Given the description of an element on the screen output the (x, y) to click on. 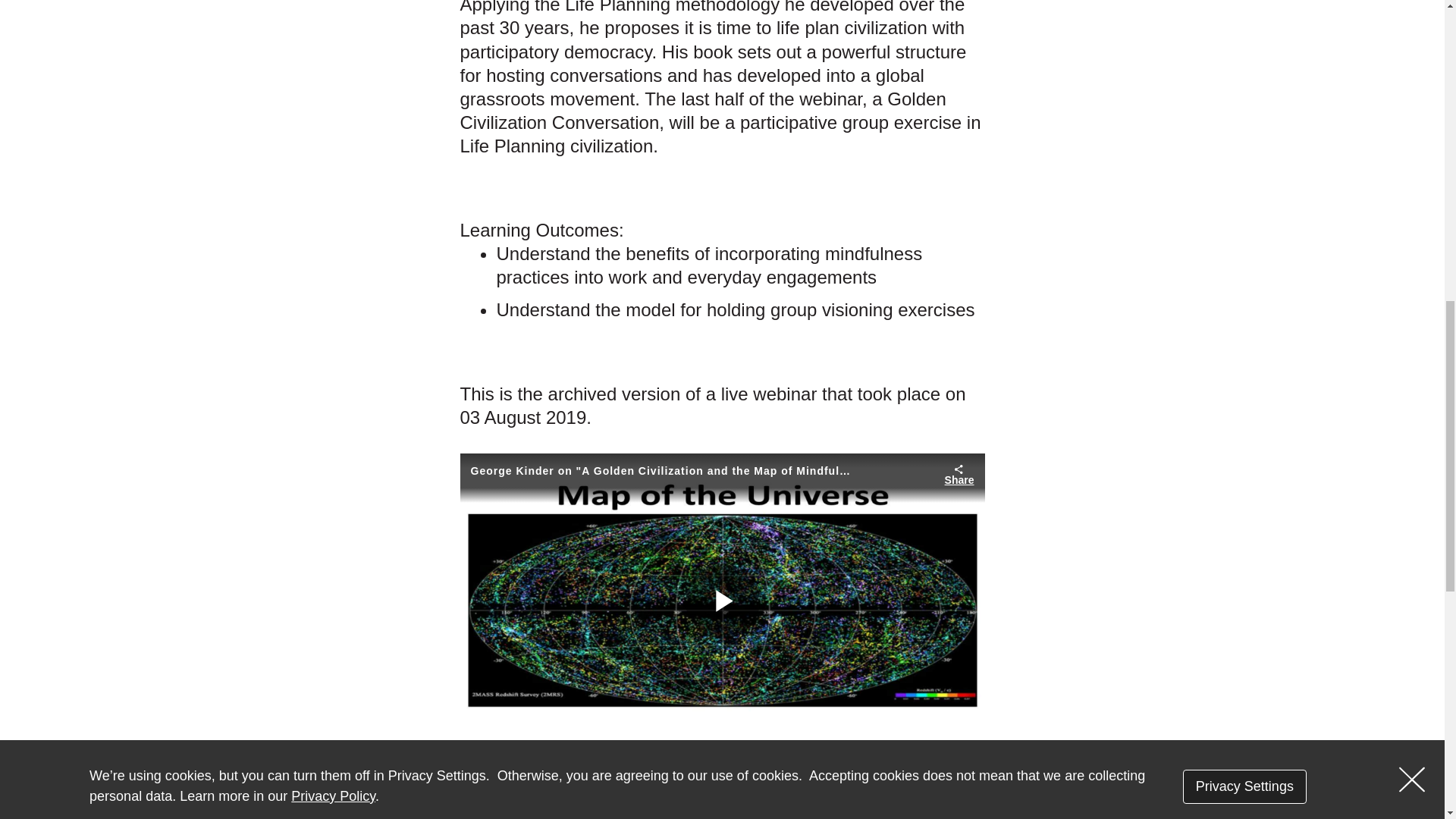
Share (959, 474)
Play Video (722, 601)
